Given the description of an element on the screen output the (x, y) to click on. 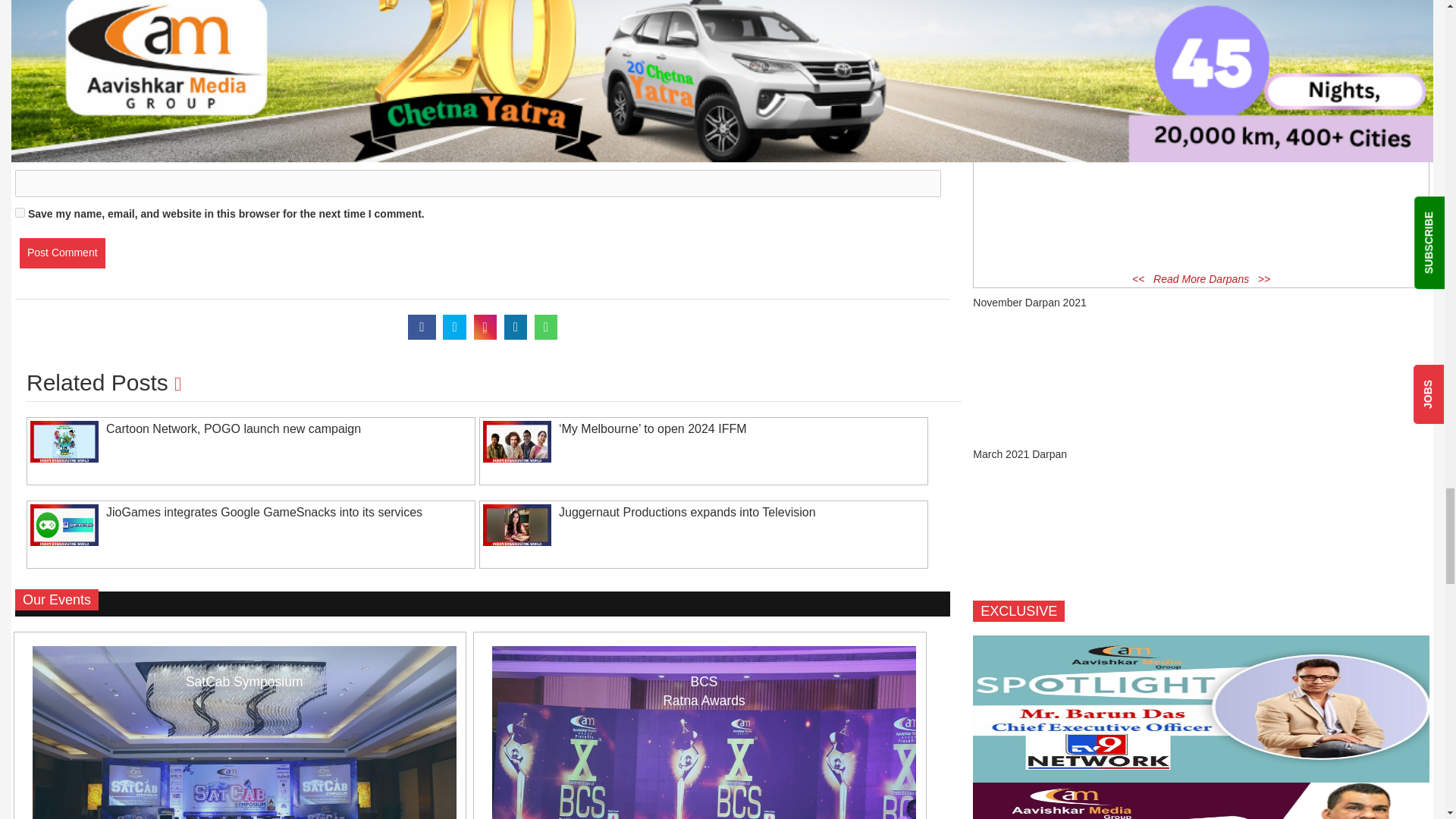
Post Comment (62, 252)
SatCab Symposium (244, 732)
BCS Ratna Awards (703, 732)
yes (19, 212)
